Given the description of an element on the screen output the (x, y) to click on. 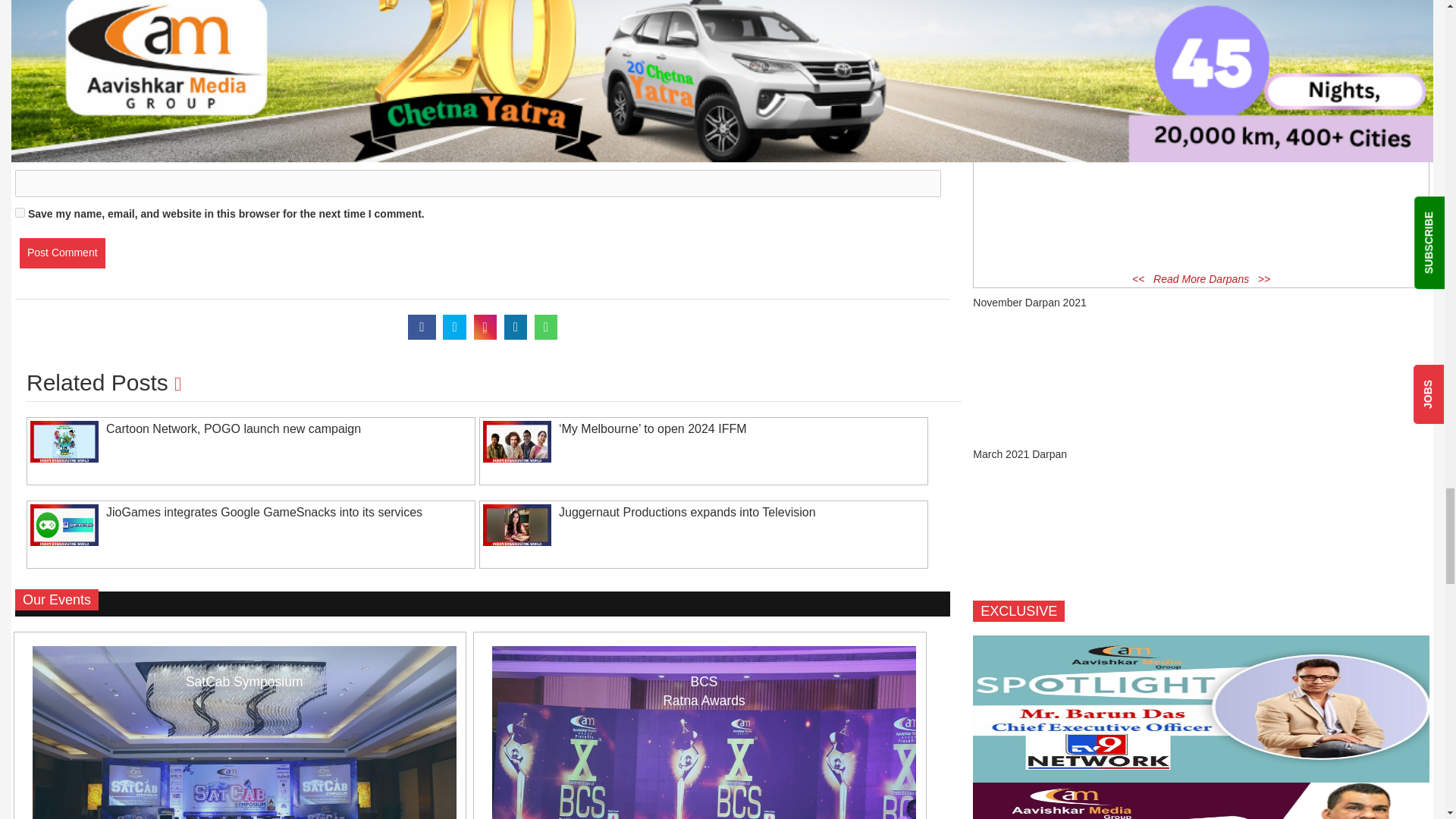
Post Comment (62, 252)
SatCab Symposium (244, 732)
BCS Ratna Awards (703, 732)
yes (19, 212)
